Given the description of an element on the screen output the (x, y) to click on. 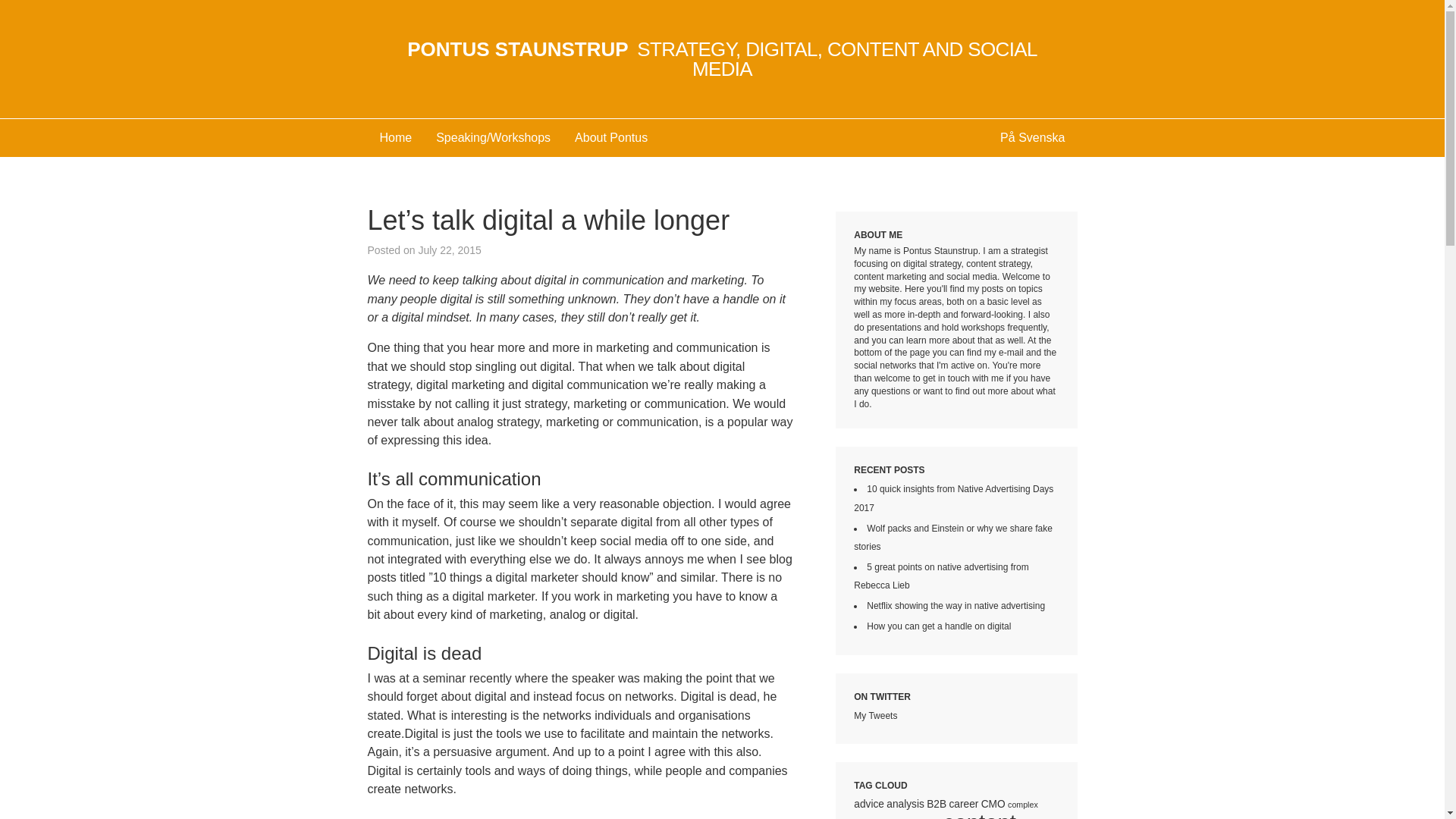
analysis (905, 803)
10 quick insights from Native Advertising Days 2017 (952, 498)
complex content (944, 809)
CMO (993, 803)
B2B (936, 803)
content marketing (934, 814)
About Pontus (610, 137)
Wolf packs and Einstein or why we share fake stories (952, 537)
5 great points on native advertising from Rebecca Lieb (940, 575)
career (963, 803)
Pontus Staunstrup (721, 58)
Netflix showing the way in native advertising (955, 605)
advice (868, 803)
How you can get a handle on digital (938, 625)
